Given the description of an element on the screen output the (x, y) to click on. 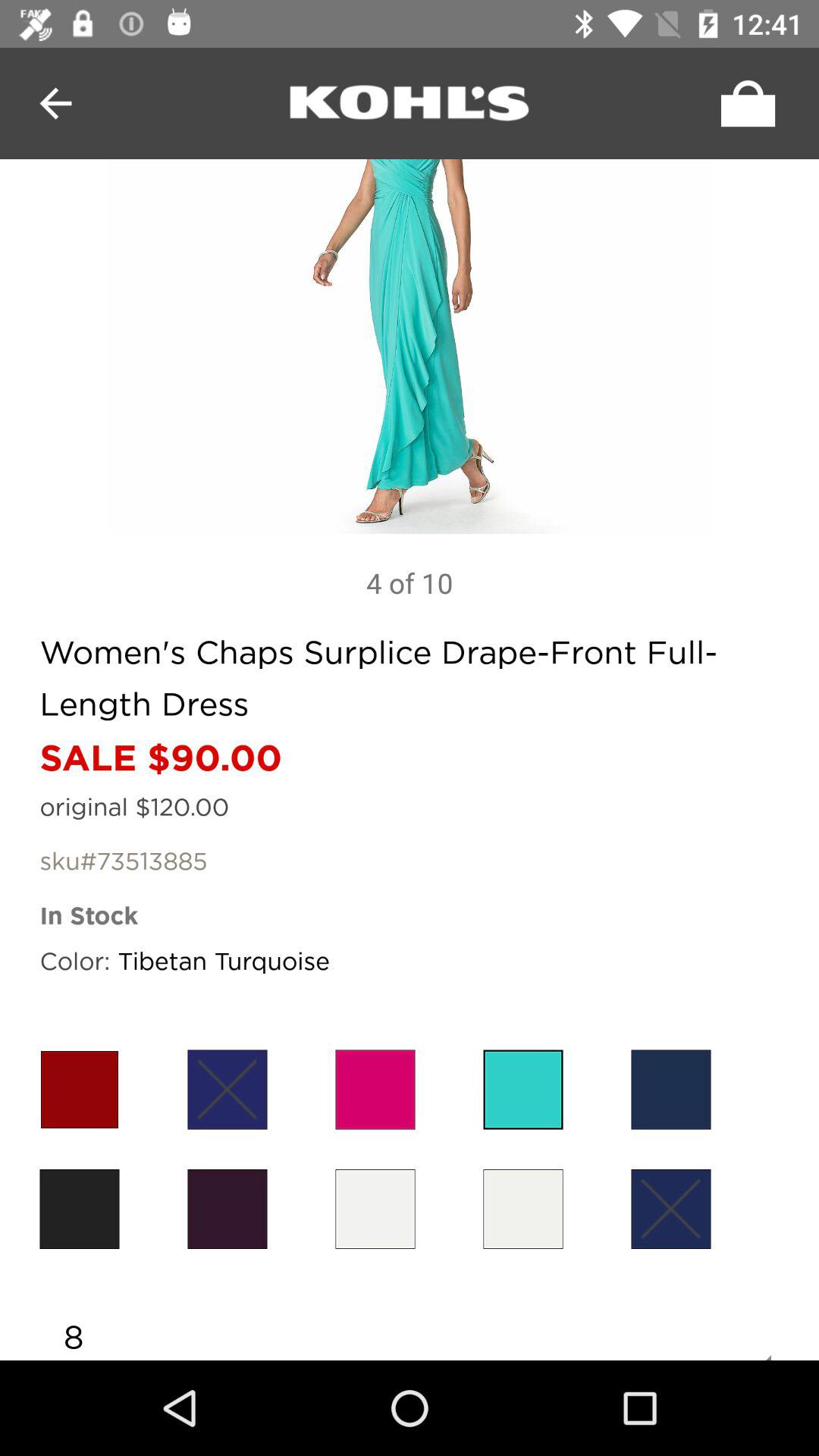
select sky-blue color (523, 1089)
